Given the description of an element on the screen output the (x, y) to click on. 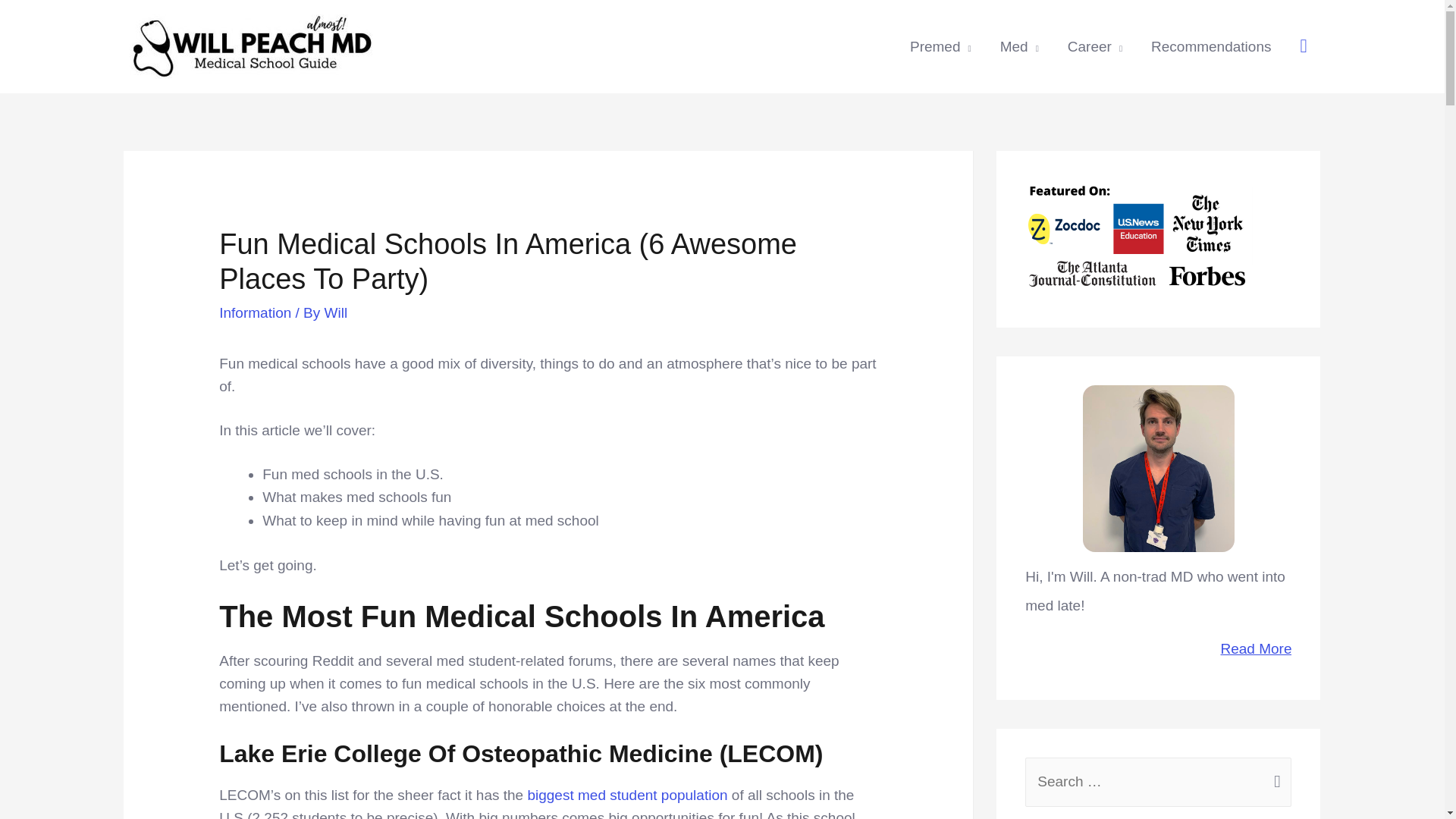
Premed (940, 47)
Read More (1158, 648)
Recommendations (1211, 47)
biggest med student population (626, 795)
Will (335, 312)
Search (1274, 774)
Search (1274, 774)
View all posts by Will (335, 312)
Search (1274, 774)
Med (1018, 47)
